Given the description of an element on the screen output the (x, y) to click on. 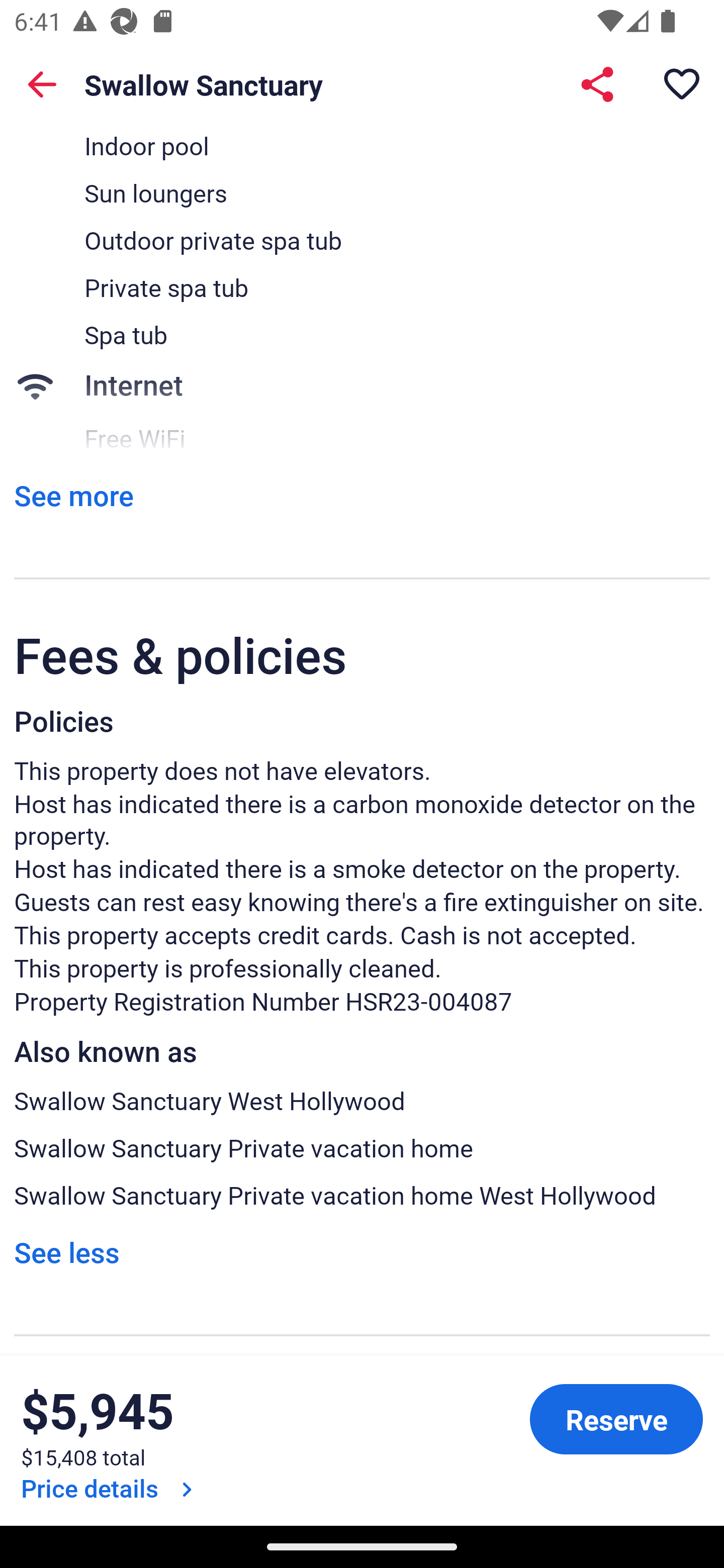
Back (42, 84)
Save property to a trip (681, 84)
Share Swallow Sanctuary (597, 84)
See more See all property amenities Link (73, 495)
See less See less Link (66, 1250)
